Given the description of an element on the screen output the (x, y) to click on. 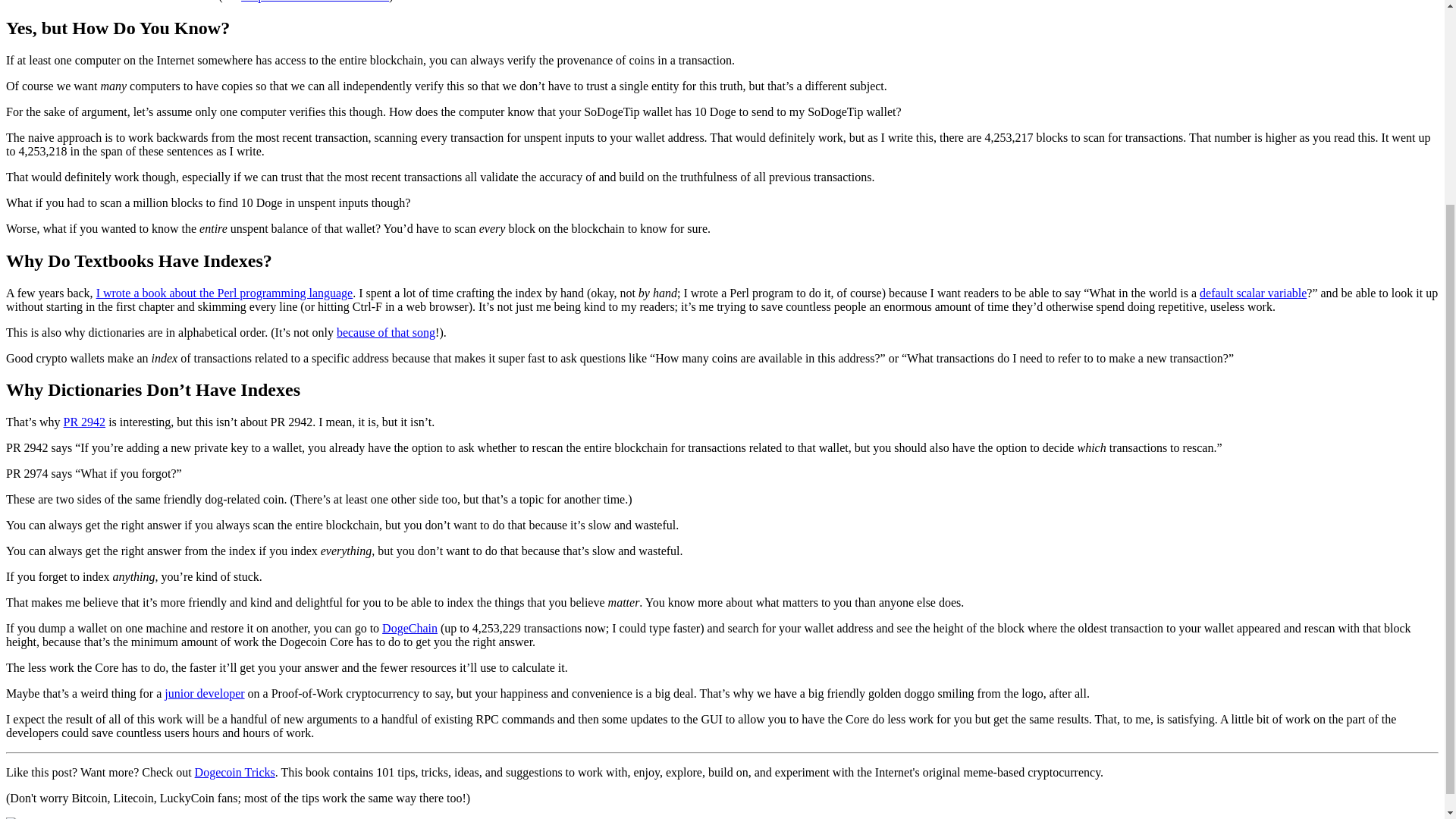
DogeChain (409, 627)
Dogecoin Tricks (235, 771)
chapter 10 of the Bitcoin book (314, 1)
default scalar variable (1252, 291)
I wrote a book about the Perl programming language (224, 291)
junior developer (204, 693)
because of that song (385, 331)
PR 2942 (85, 421)
